Given the description of an element on the screen output the (x, y) to click on. 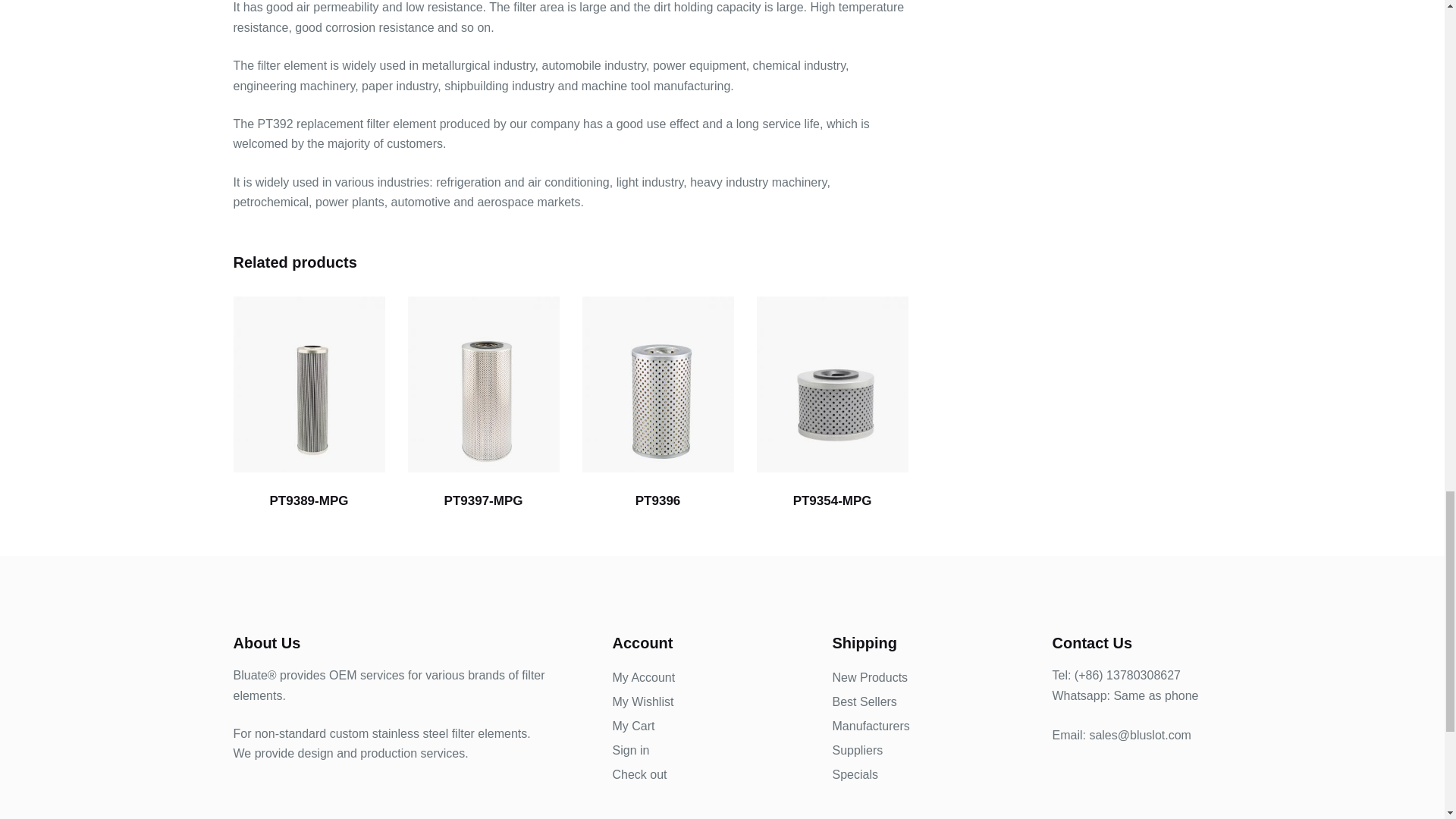
P718-5 (483, 383)
PT9389-MPG (308, 383)
PT9354-MPG (832, 383)
PT9396 (657, 383)
